Given the description of an element on the screen output the (x, y) to click on. 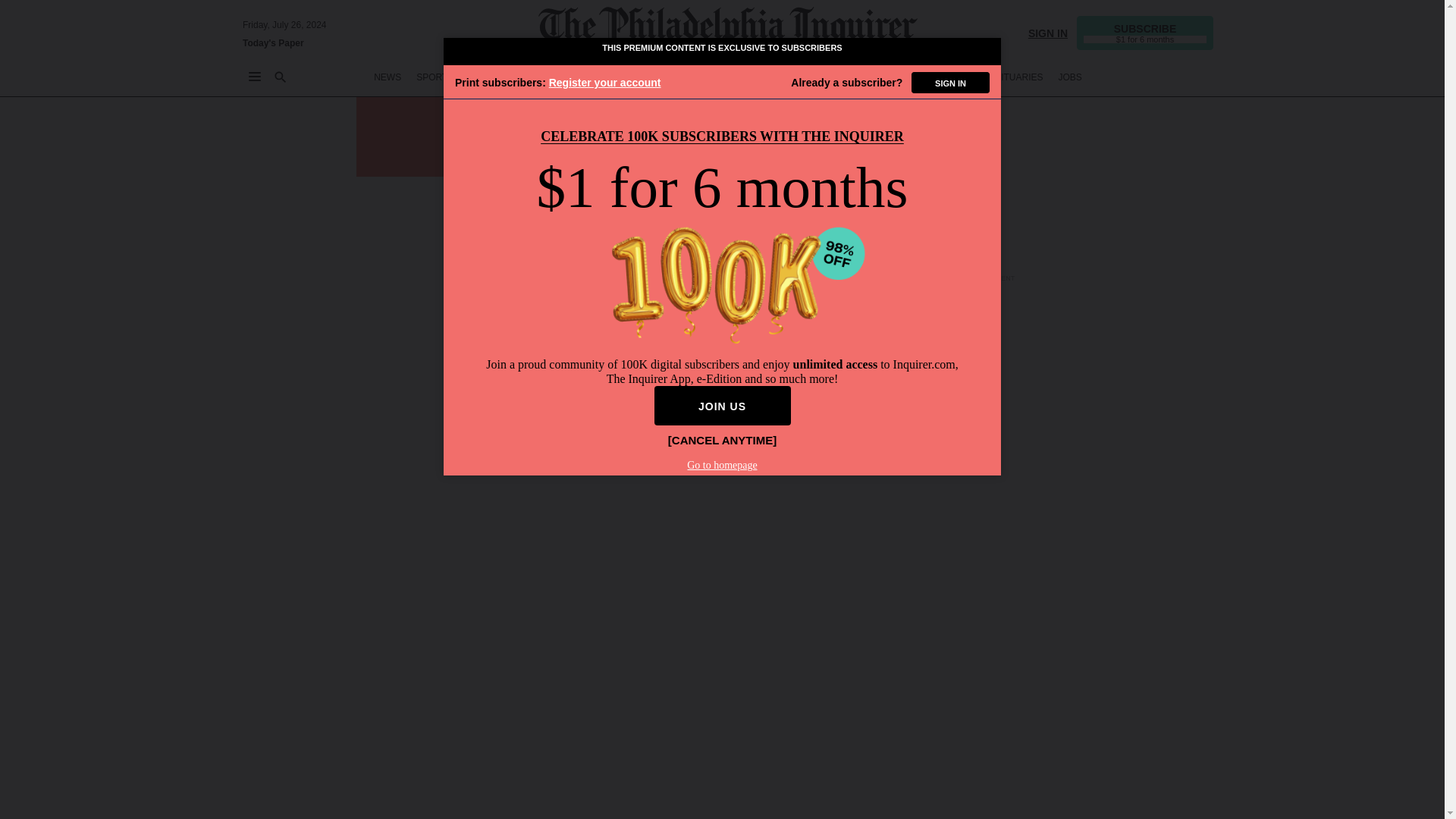
3rd party ad content (985, 61)
